Given the description of an element on the screen output the (x, y) to click on. 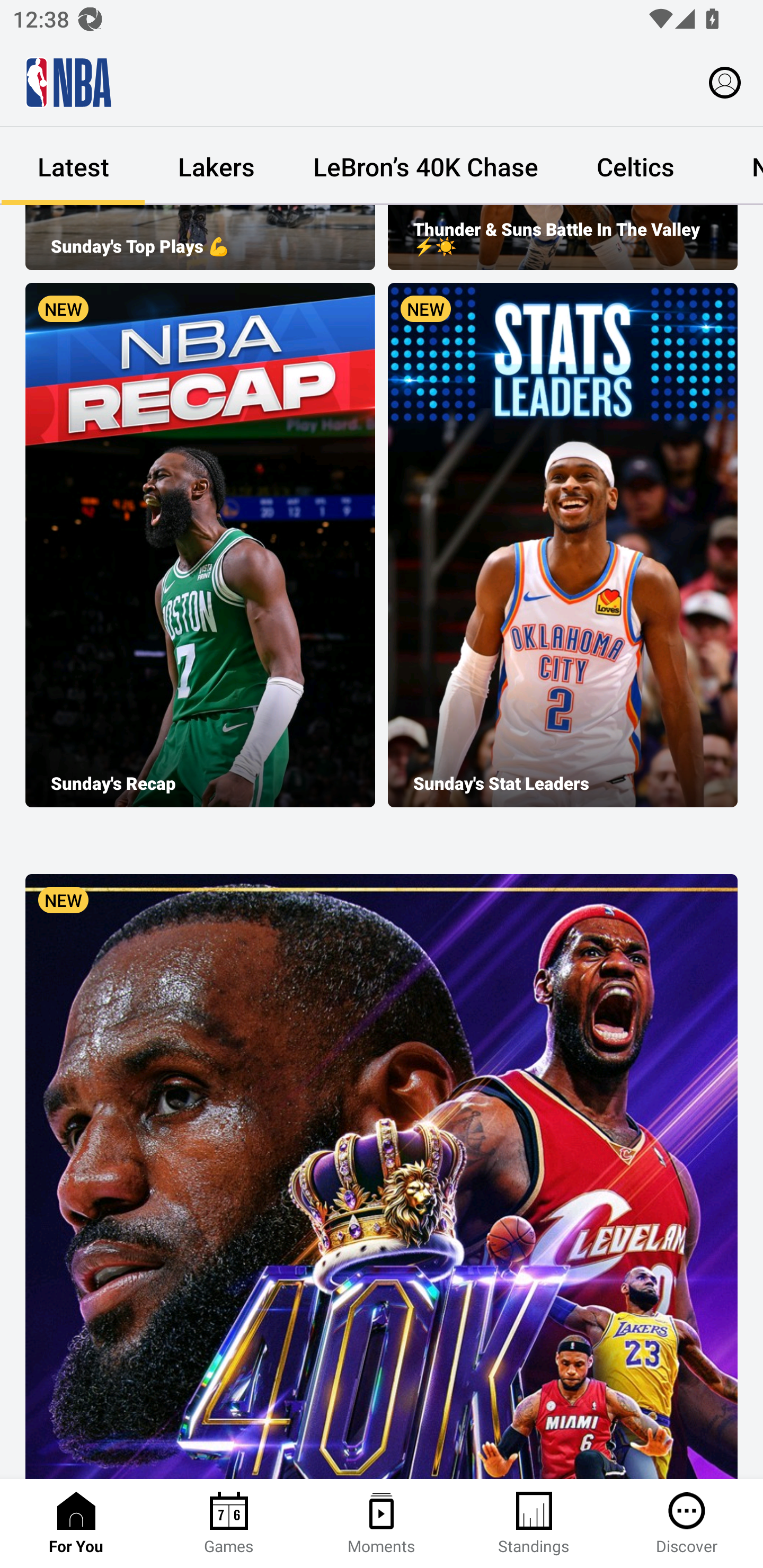
Profile (724, 81)
Lakers (215, 166)
LeBron’s 40K Chase (425, 166)
Celtics (634, 166)
NEW Sunday's Recap (200, 544)
NEW Sunday's Stat Leaders (562, 544)
NEW (381, 1175)
Games (228, 1523)
Moments (381, 1523)
Standings (533, 1523)
Discover (686, 1523)
